Given the description of an element on the screen output the (x, y) to click on. 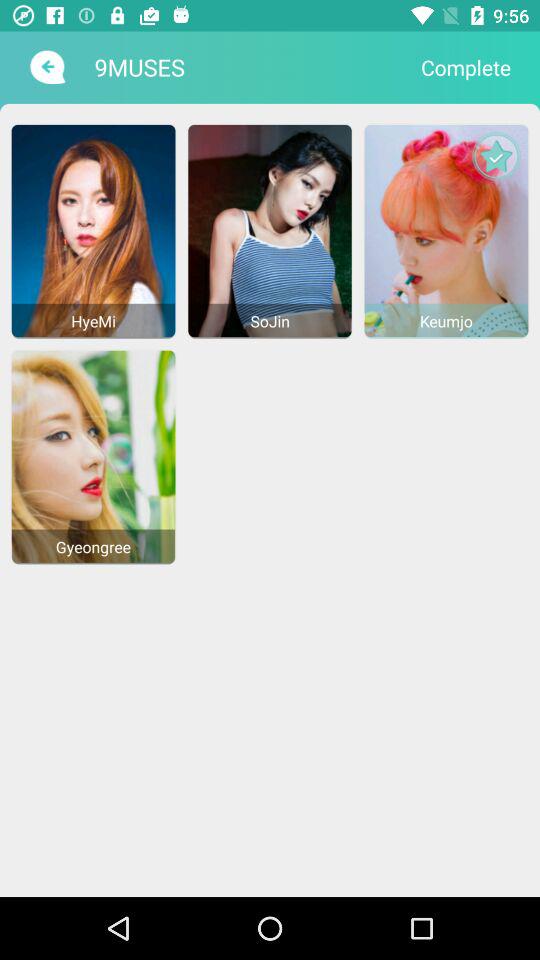
launch icon next to the 9muses item (465, 67)
